Given the description of an element on the screen output the (x, y) to click on. 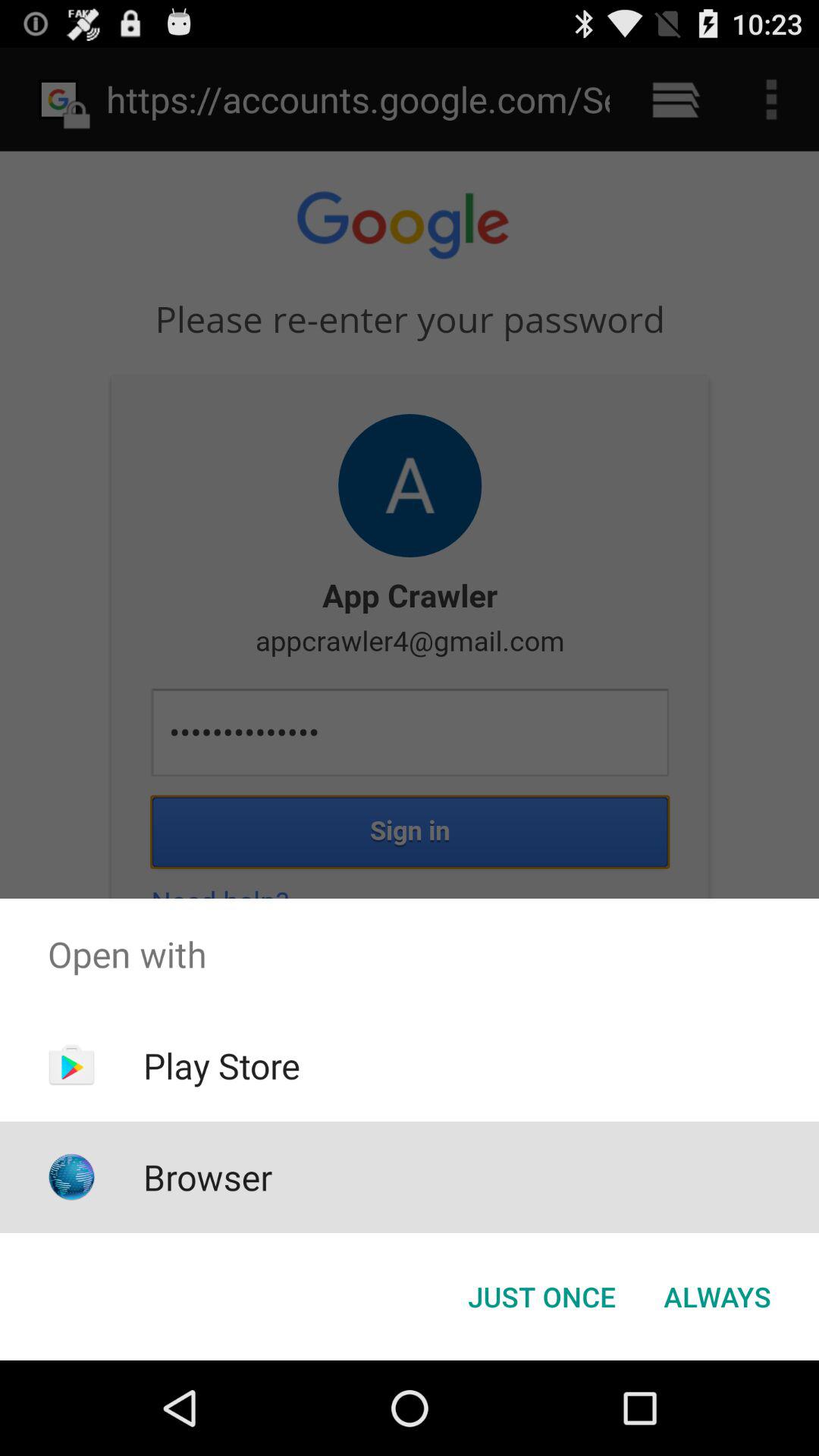
launch app below the open with app (717, 1296)
